Given the description of an element on the screen output the (x, y) to click on. 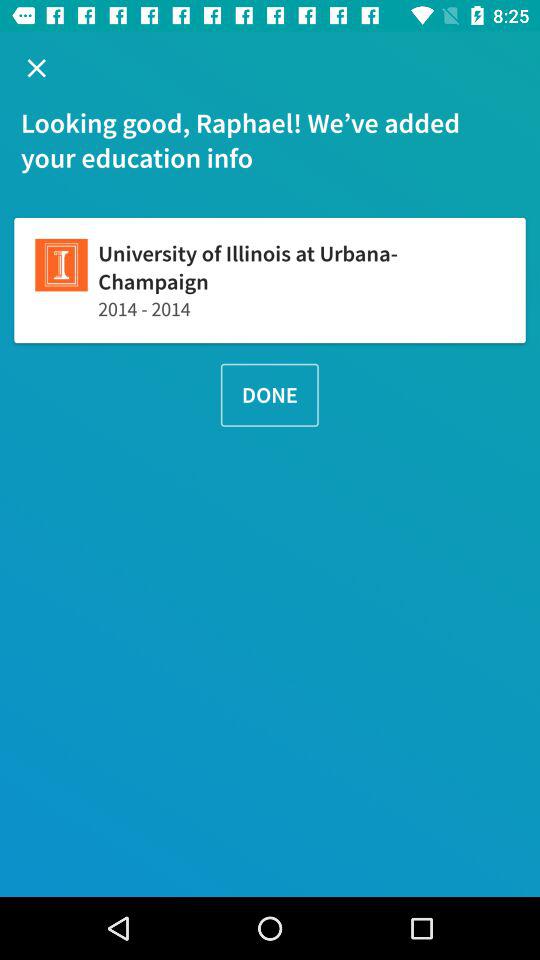
flip to done item (269, 394)
